Given the description of an element on the screen output the (x, y) to click on. 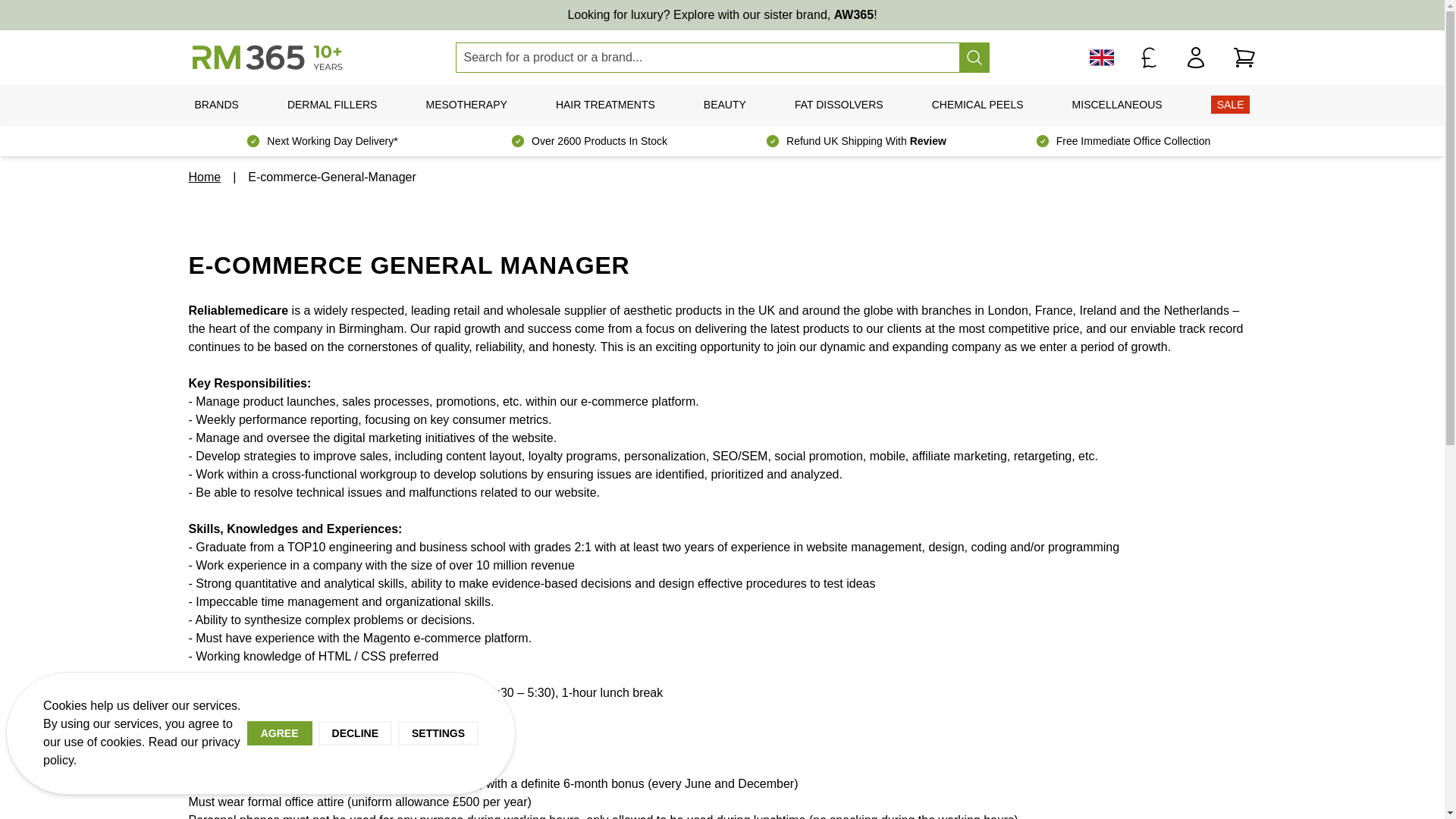
SETTINGS (438, 733)
DECLINE (354, 733)
AW365 (853, 14)
Search (973, 57)
Read our privacy policy (141, 750)
Cart (1243, 57)
AGREE (280, 733)
